Given the description of an element on the screen output the (x, y) to click on. 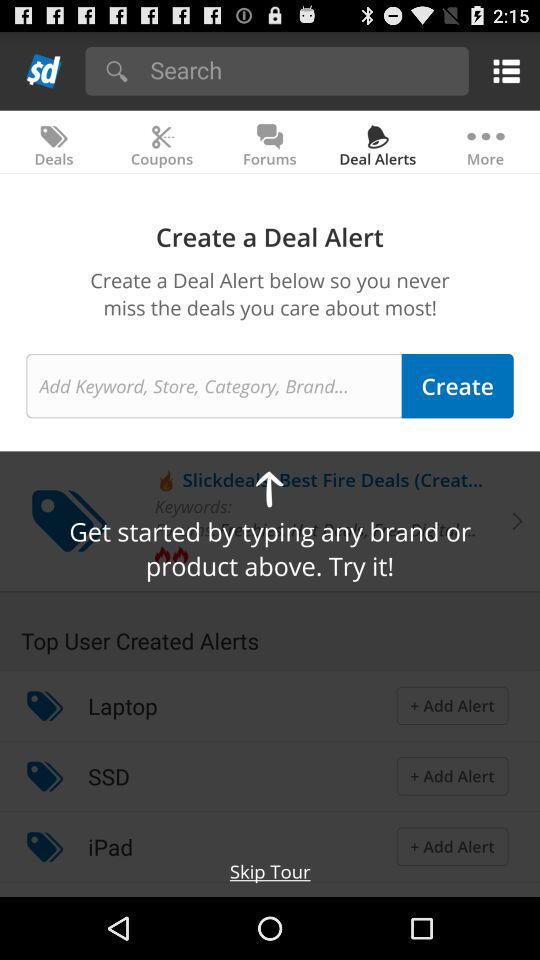
make alert name (213, 385)
